Given the description of an element on the screen output the (x, y) to click on. 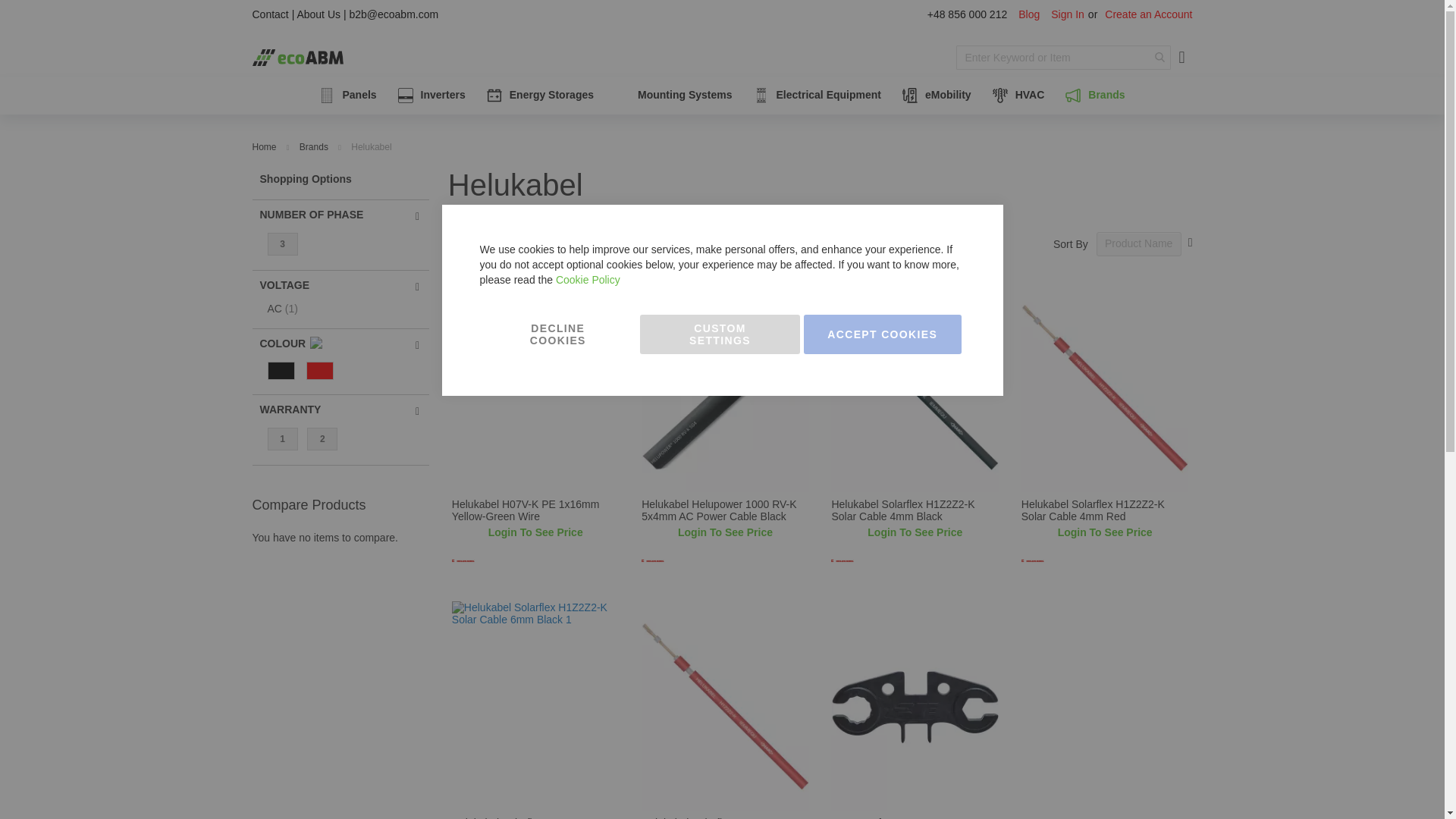
DECLINE COOKIES (557, 333)
Create an Account (1148, 14)
logo b2b.ecoabm.com (296, 57)
Cookie Policy (588, 279)
Sign In (1067, 14)
About Us (318, 14)
About Us (318, 14)
Blog (1028, 14)
ACCEPT COOKIES (881, 333)
CUSTOM SETTINGS (719, 333)
